Given the description of an element on the screen output the (x, y) to click on. 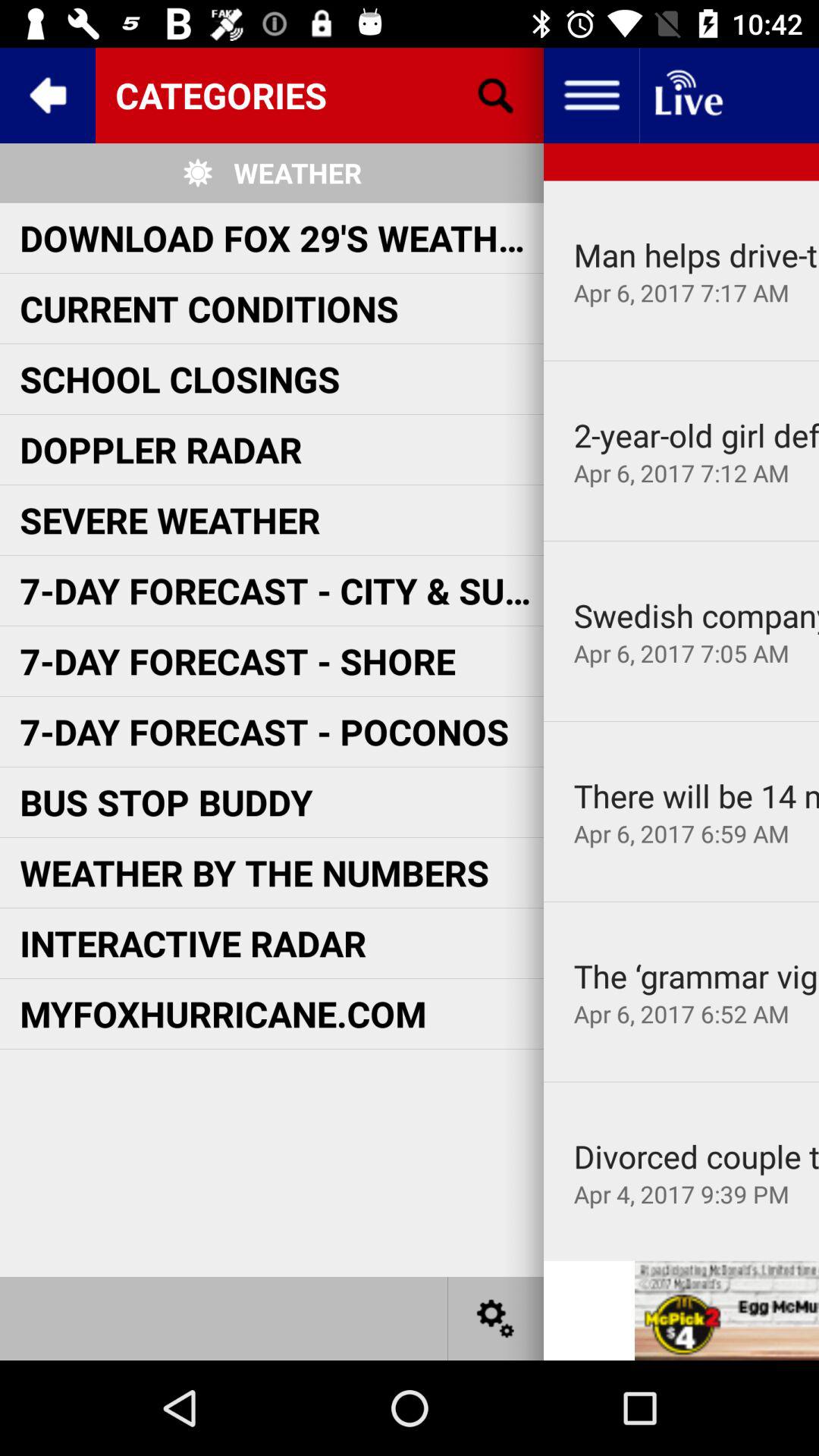
select search button (495, 95)
